Given the description of an element on the screen output the (x, y) to click on. 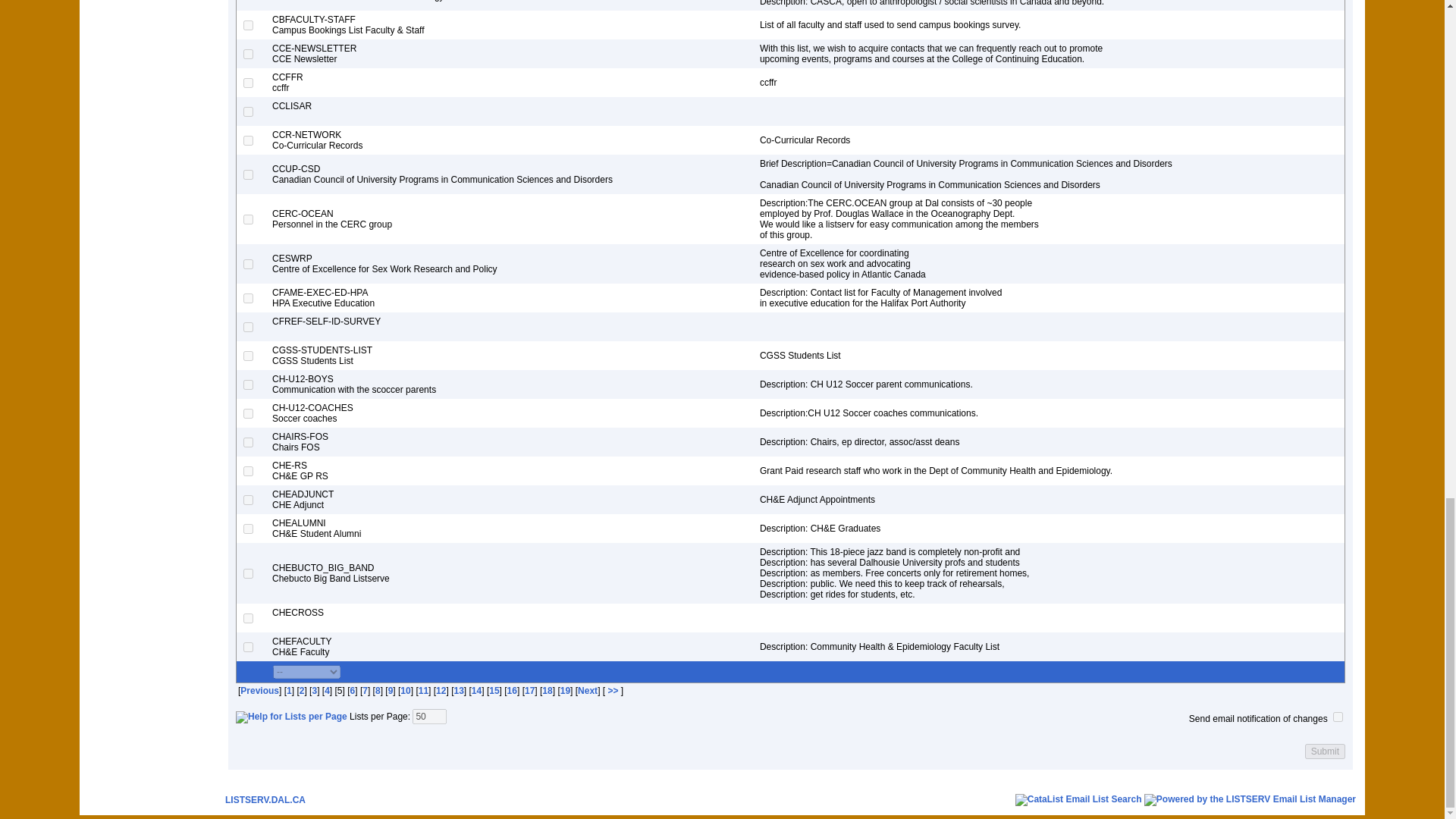
Previous (259, 690)
CataList Email List Search (1077, 799)
Powered by the LISTSERV Email List Manager (1249, 799)
Help for Lists per Page (291, 717)
